Given the description of an element on the screen output the (x, y) to click on. 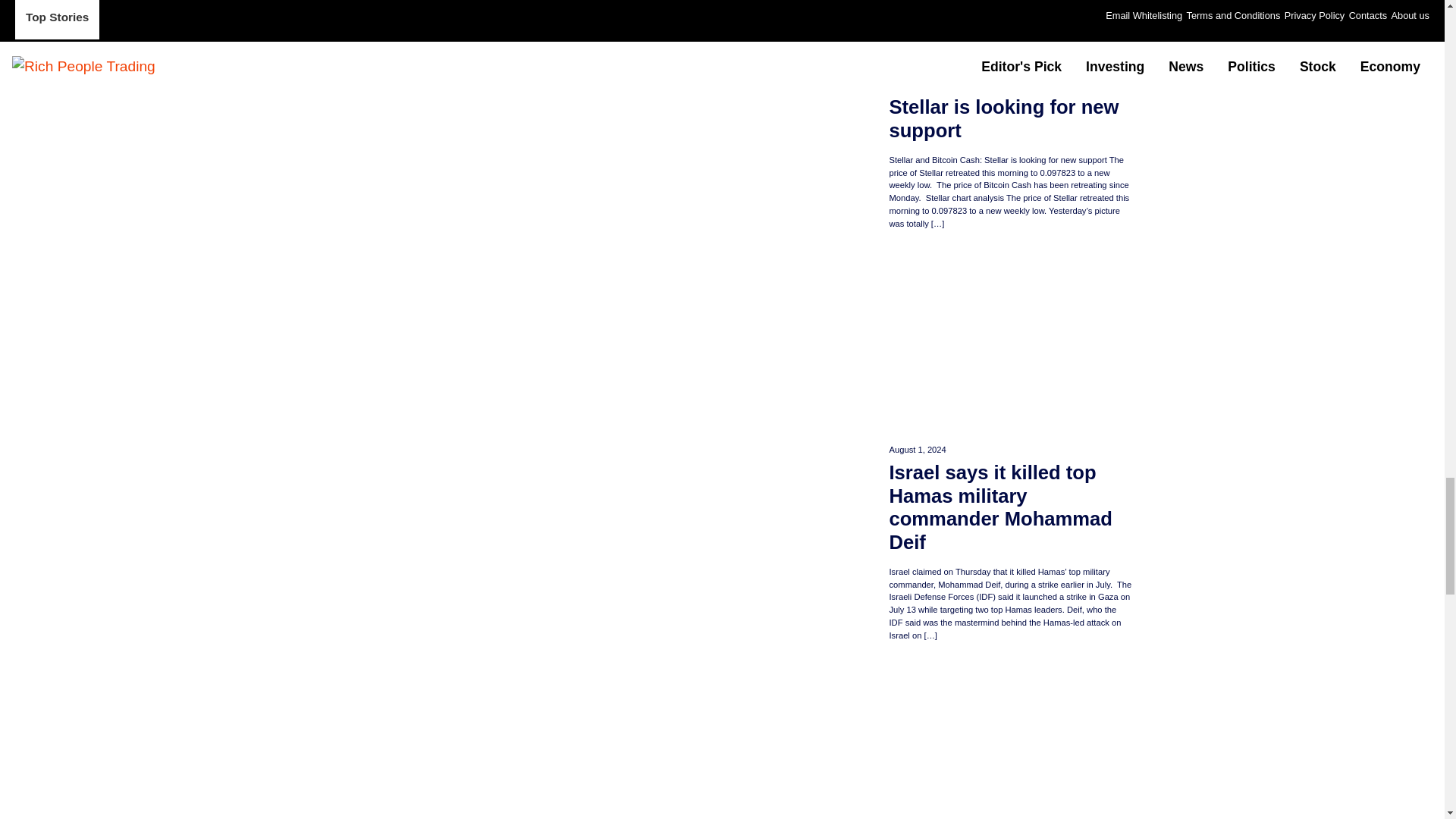
Stellar and Bitcoin Cash: Stellar is looking for new support (1009, 107)
